Given the description of an element on the screen output the (x, y) to click on. 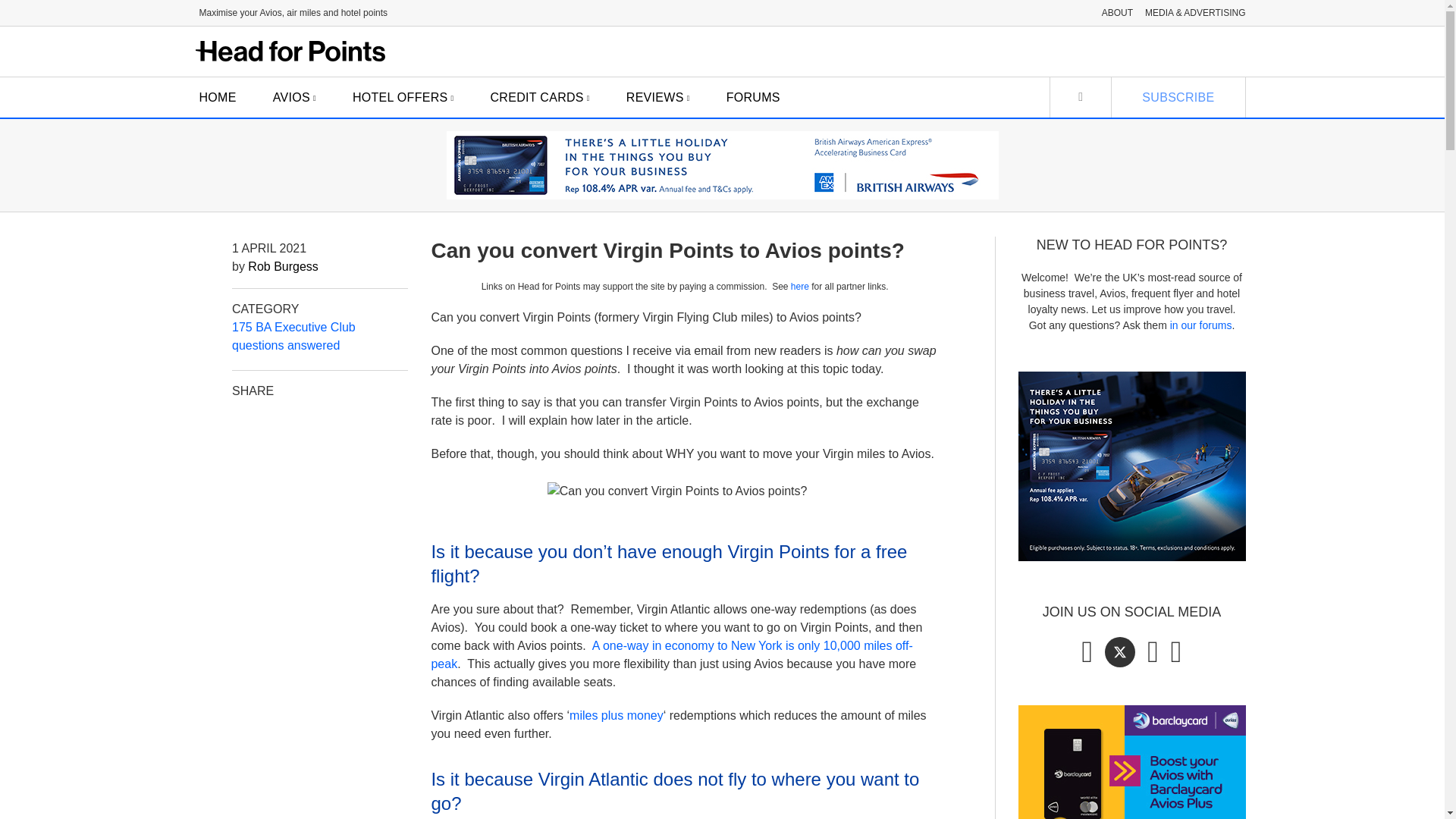
AVIOS (294, 96)
ABOUT (1117, 12)
CREDIT CARDS (539, 96)
Virgin Miles Plus Money (616, 715)
Virgin reward flights miles chart (671, 654)
HOTEL OFFERS (402, 96)
HOME (216, 96)
REVIEWS (657, 96)
